Given the description of an element on the screen output the (x, y) to click on. 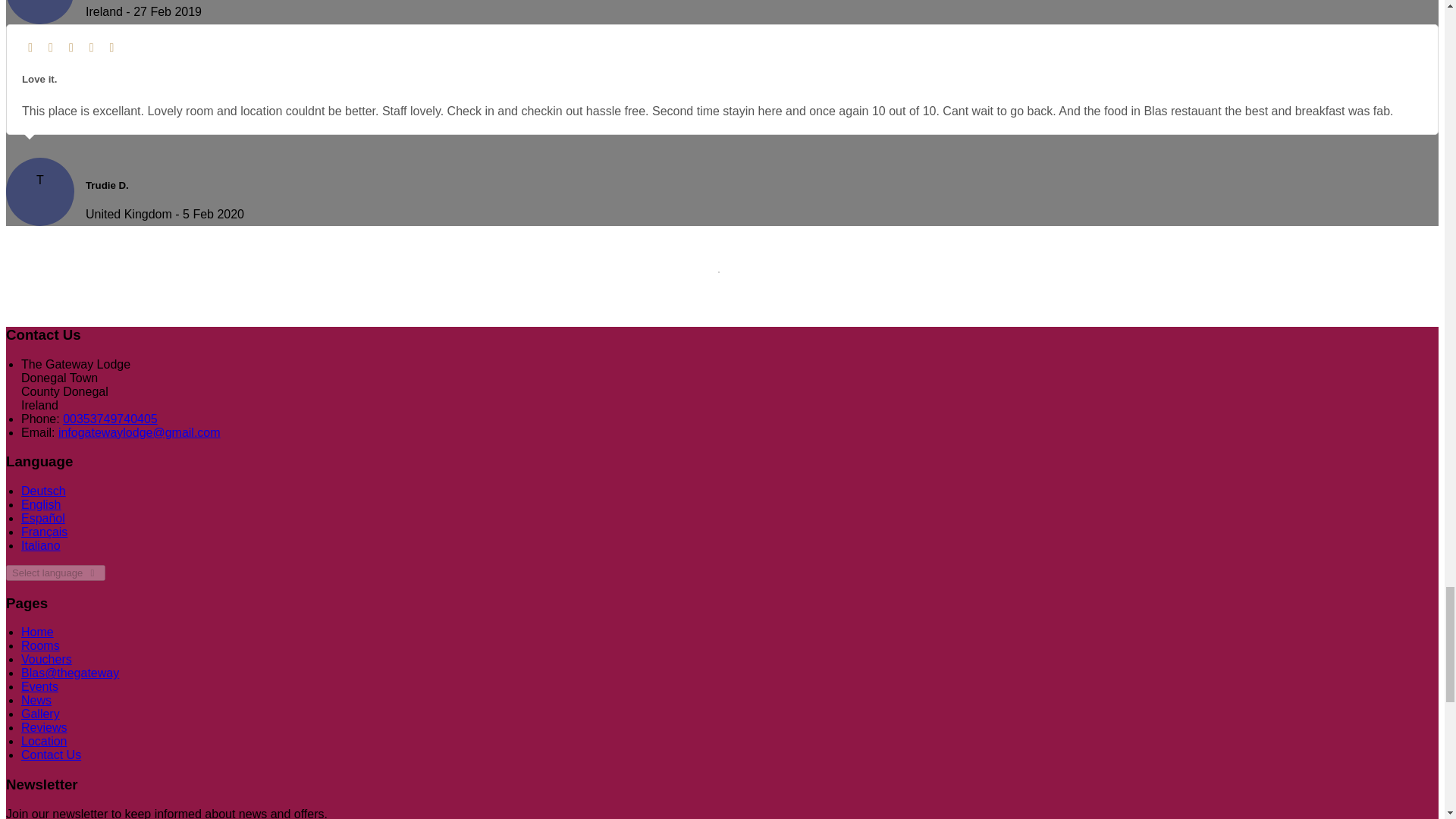
Deutsch (43, 490)
English (41, 504)
Italiano (41, 545)
